Given the description of an element on the screen output the (x, y) to click on. 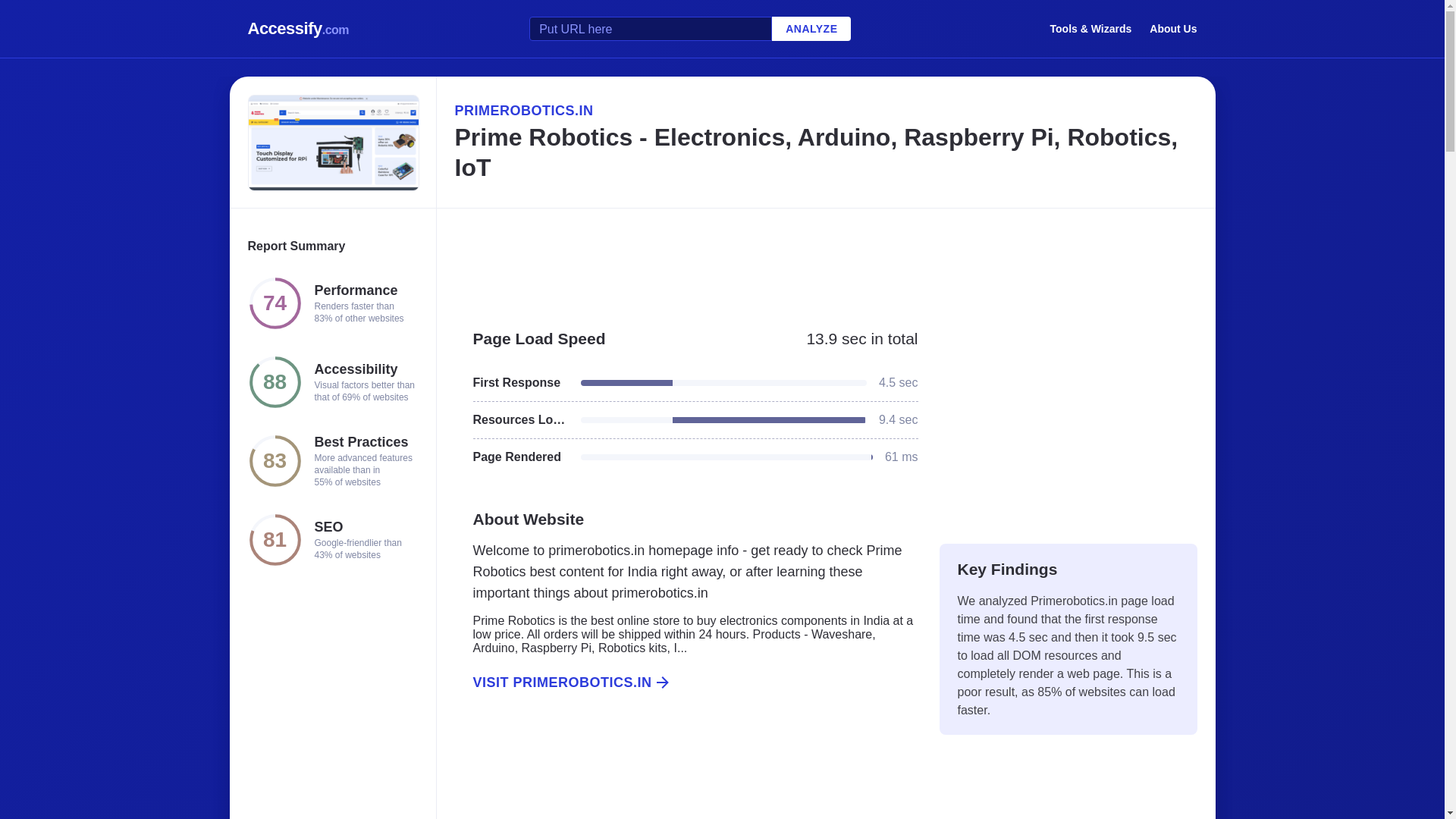
ANALYZE (810, 28)
VISIT PRIMEROBOTICS.IN (686, 682)
PRIMEROBOTICS.IN (825, 110)
Accessify.com (298, 28)
Advertisement (686, 771)
Advertisement (1067, 418)
Advertisement (825, 260)
About Us (1173, 28)
